Given the description of an element on the screen output the (x, y) to click on. 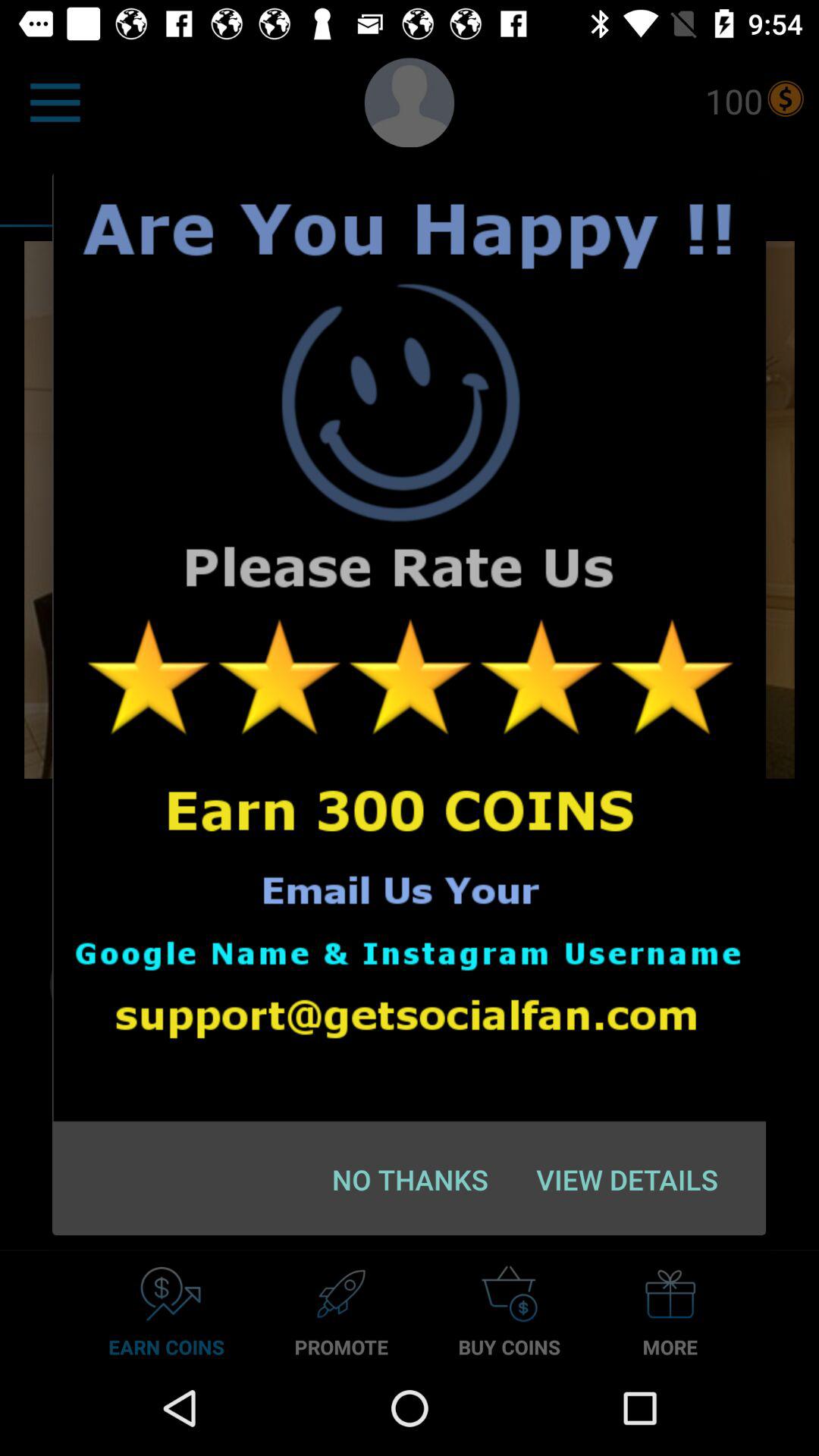
press item to the left of view details item (410, 1179)
